Given the description of an element on the screen output the (x, y) to click on. 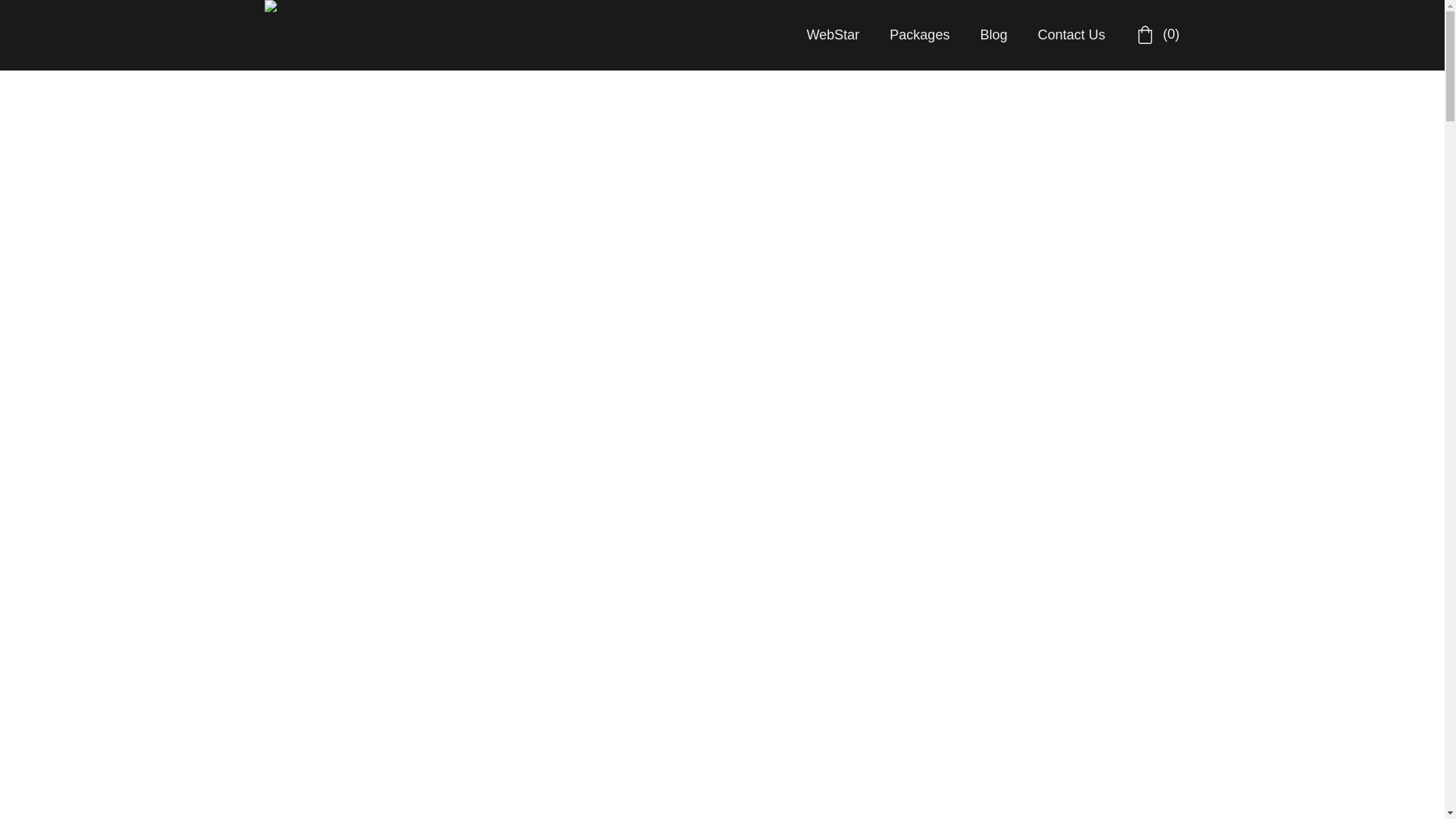
Packages (919, 35)
Blog (993, 35)
WebStar (833, 35)
Go to cart (1157, 34)
Contact Us (1070, 35)
